Given the description of an element on the screen output the (x, y) to click on. 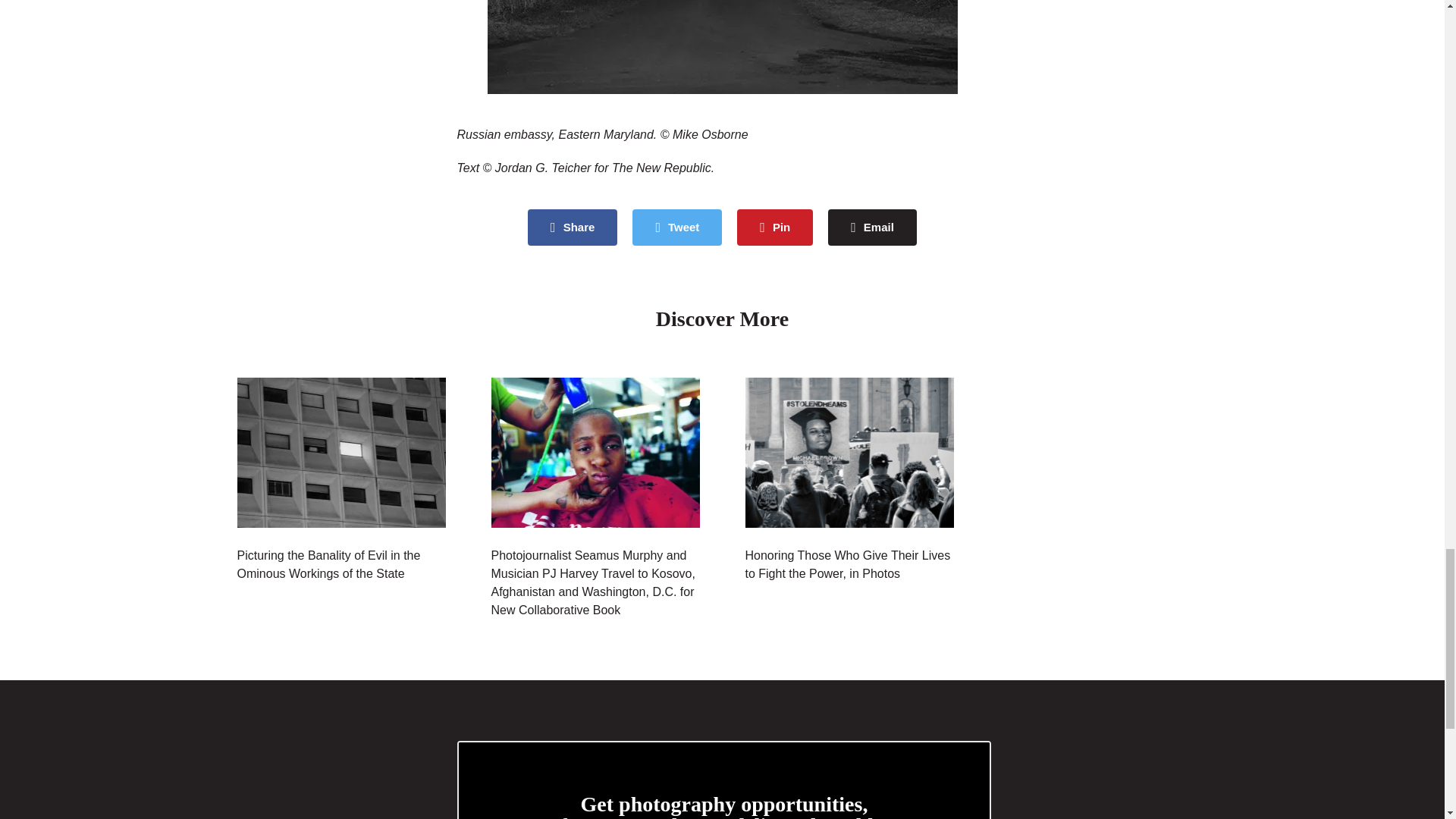
Email (872, 227)
Pin (774, 227)
Tweet (676, 227)
Share (572, 227)
